Given the description of an element on the screen output the (x, y) to click on. 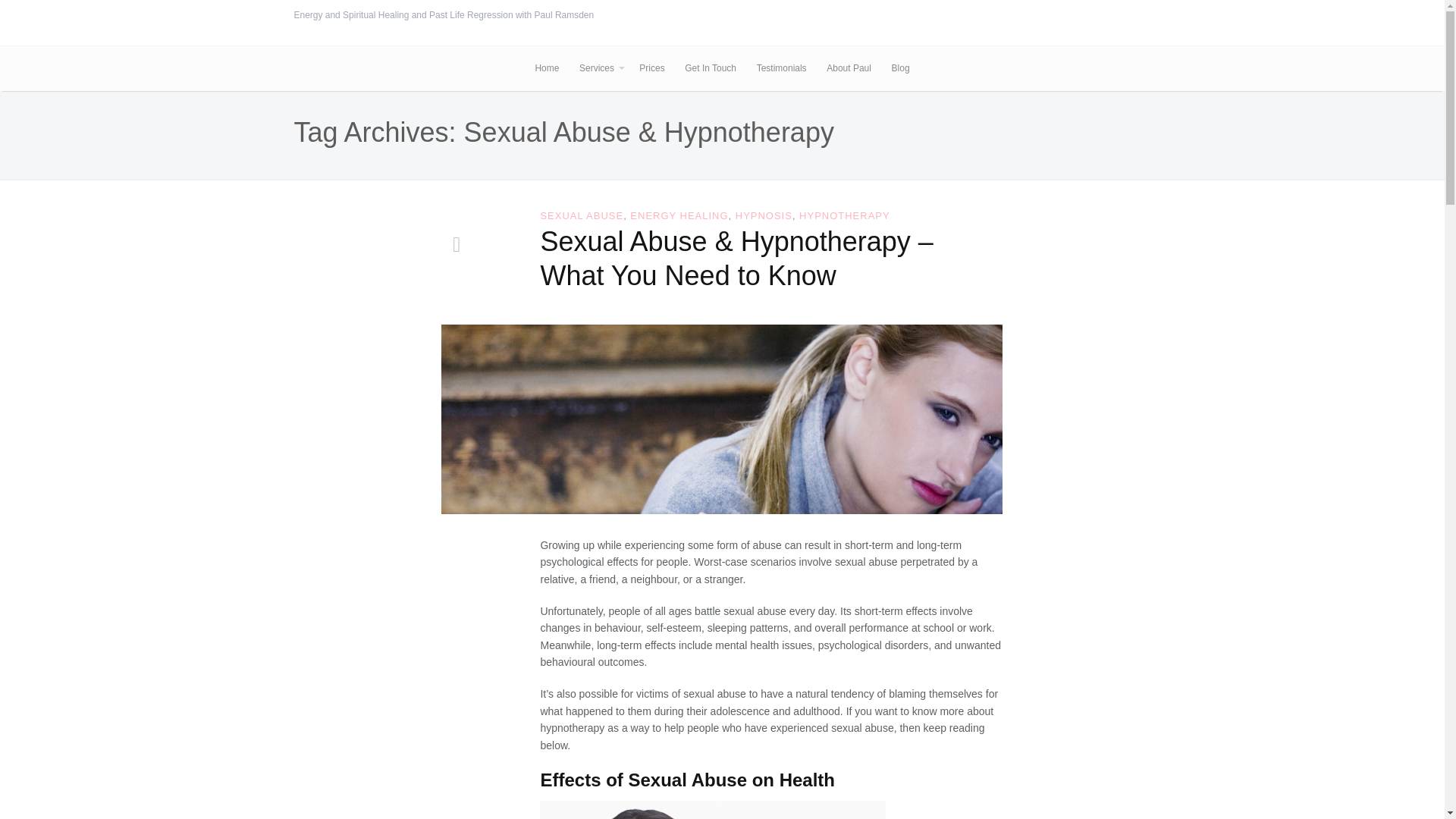
ENERGY HEALING (679, 215)
Services (598, 68)
About Paul (848, 68)
HYPNOTHERAPY (844, 215)
Blog (900, 68)
HYPNOSIS (763, 215)
Testimonials (780, 68)
Prices (651, 68)
Get In Touch (710, 68)
Home (546, 68)
